Given the description of an element on the screen output the (x, y) to click on. 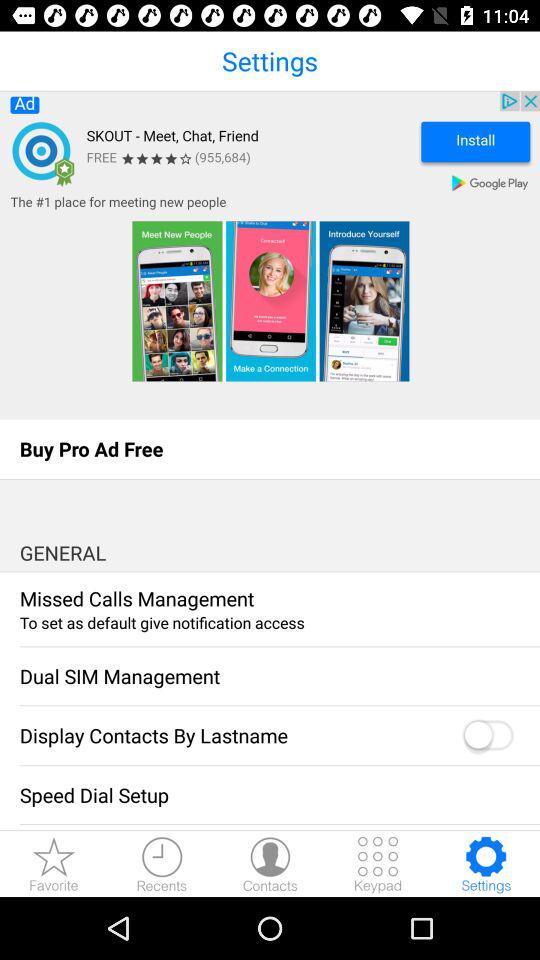
click on recents icon in the bottom (161, 864)
click on the button left to settings (377, 864)
click on the star button at bottom left corner (53, 864)
click on settings icon at the bottom of the page (485, 864)
